Given the description of an element on the screen output the (x, y) to click on. 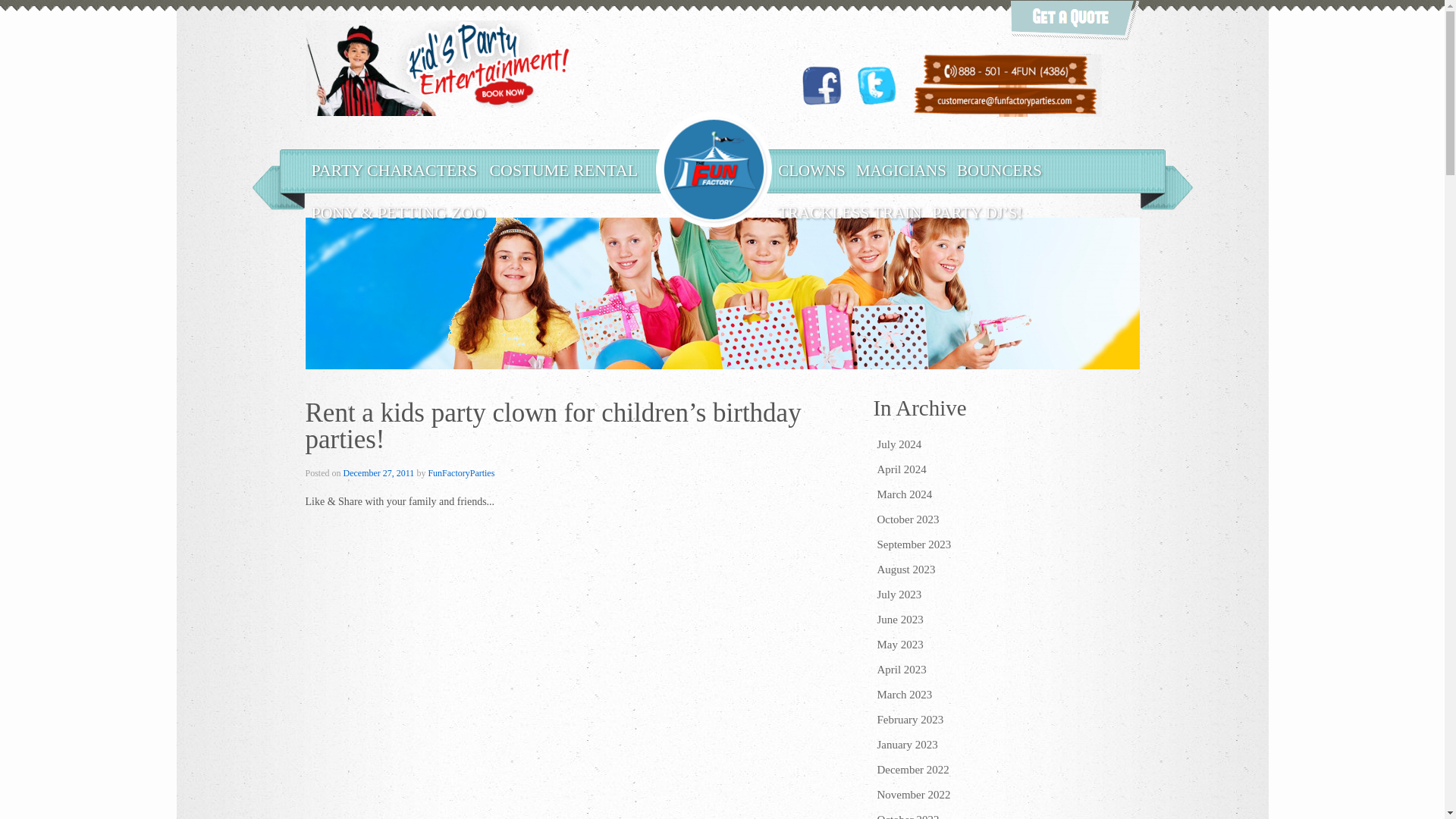
TRACKLESS TRAIN (849, 212)
COSTUME RENTAL (563, 170)
BOUNCERS (999, 170)
CLOWNS (811, 170)
FunFactoryParties (461, 472)
PARTY CHARACTERS (393, 170)
MAGICIANS (901, 170)
View all posts by FunFactoryParties (461, 472)
December 27, 2011 (378, 472)
